Given the description of an element on the screen output the (x, y) to click on. 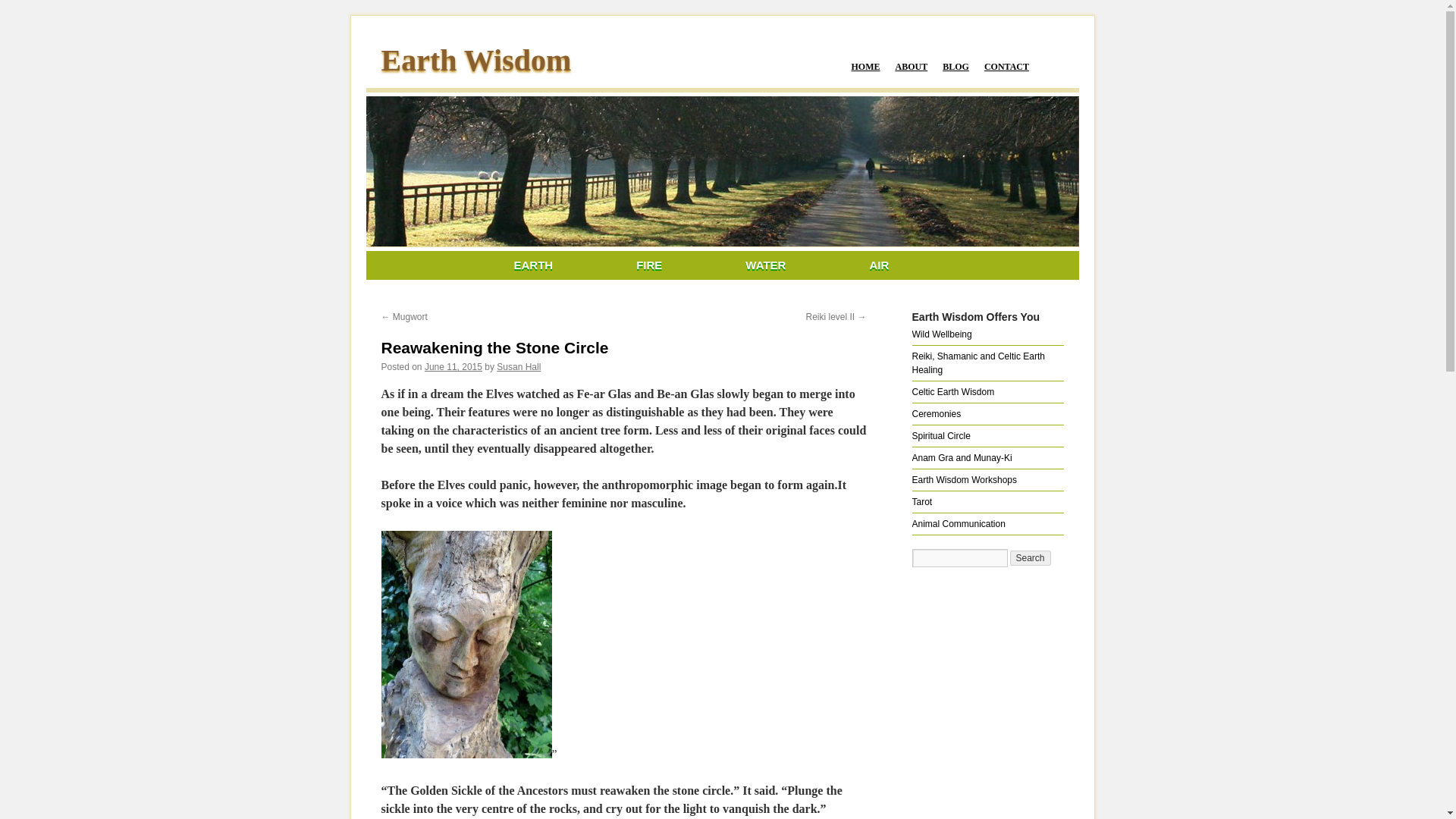
CONTACT (1006, 66)
Fire (648, 265)
WATER (765, 265)
View all posts by Susan Hall (518, 366)
Ceremonies (935, 413)
June 11, 2015 (453, 366)
Ceremonies (935, 413)
Animal Communication (957, 523)
Water (765, 265)
FIRE (648, 265)
